Given the description of an element on the screen output the (x, y) to click on. 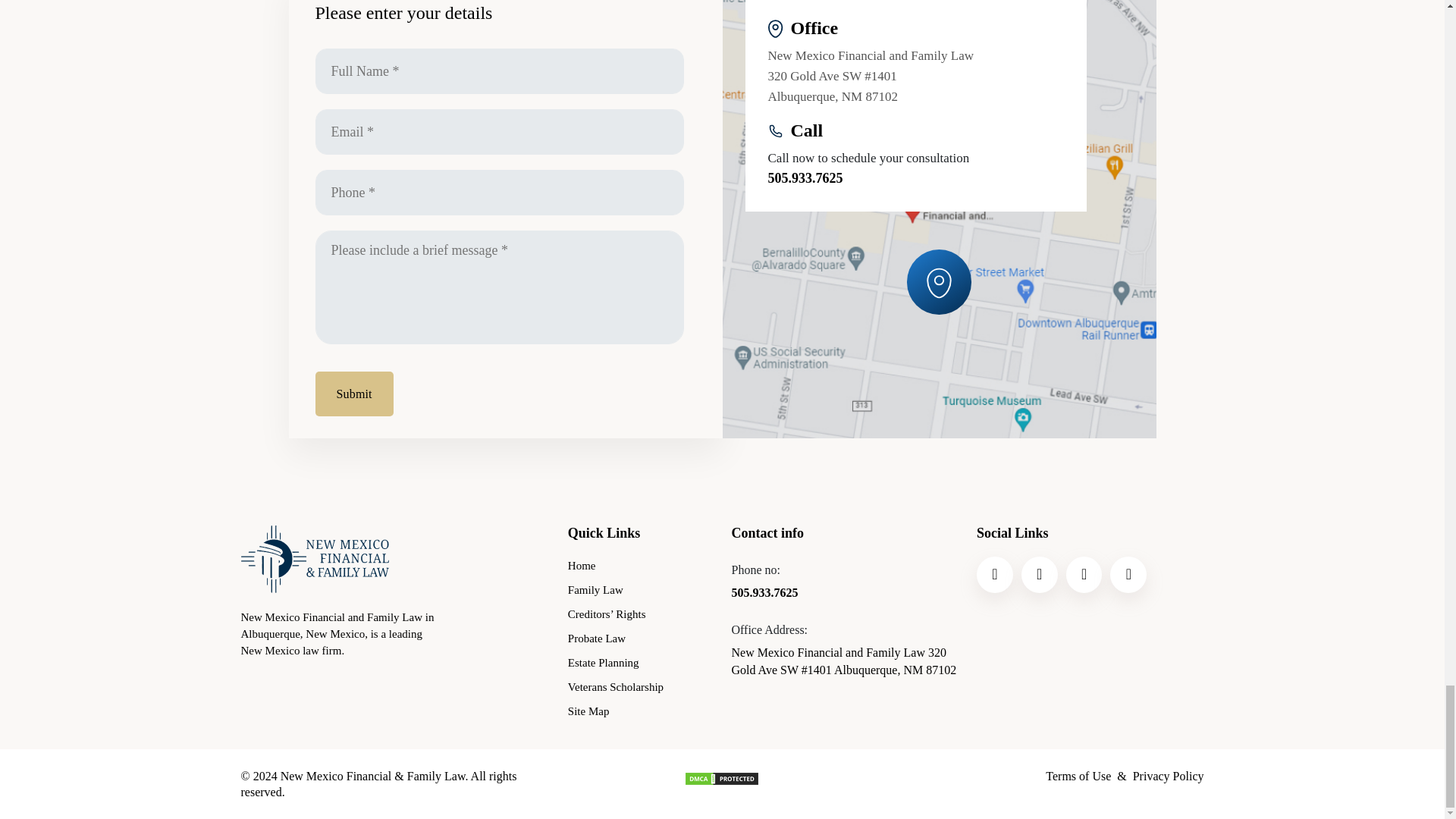
Submit (354, 393)
Content Protection by DMCA.com (722, 776)
